Given the description of an element on the screen output the (x, y) to click on. 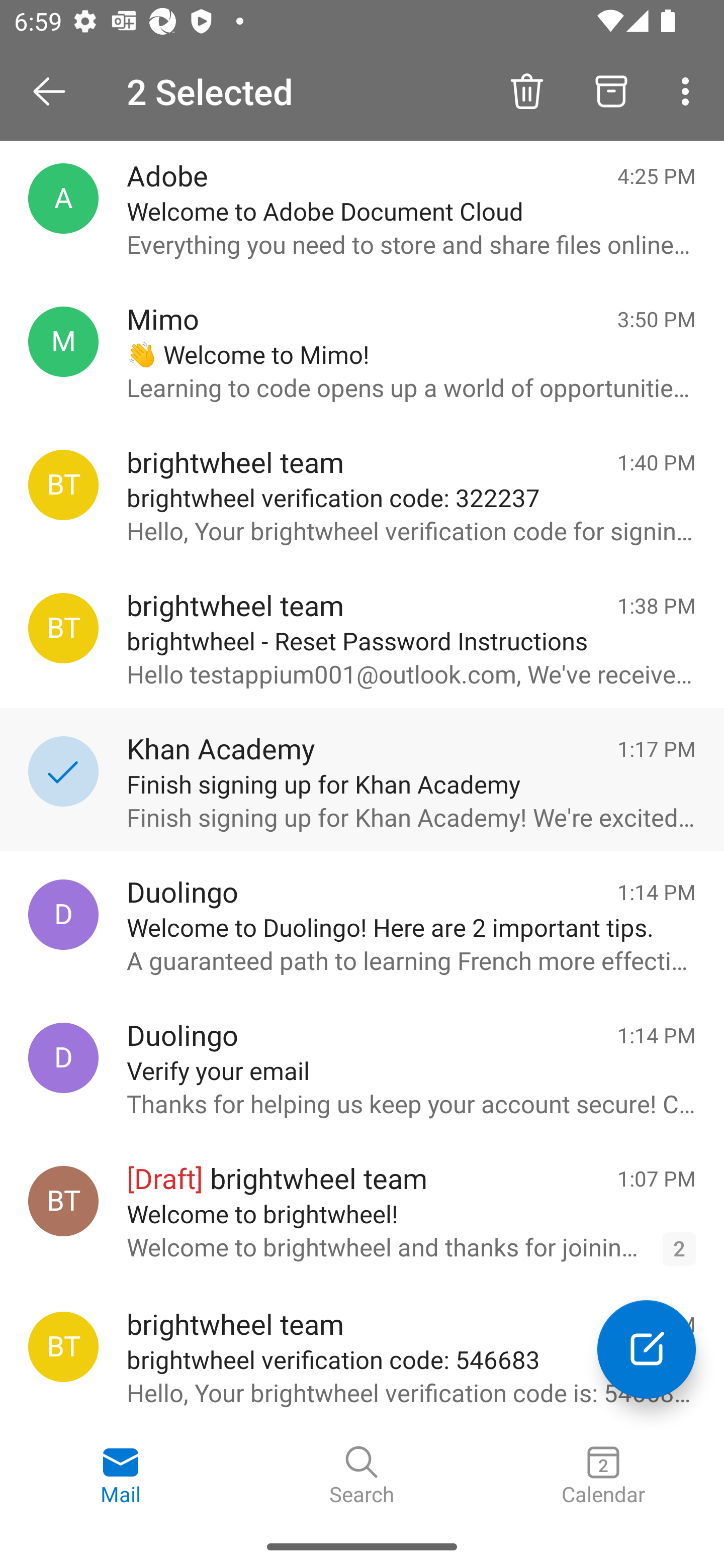
Delete (526, 90)
Archive (611, 90)
More options (688, 90)
Open Navigation Drawer (55, 91)
Adobe, message@adobe.com (63, 198)
Mimo, support@getmimo.com (63, 341)
brightwheel team, recovery@mybrightwheel.com (63, 485)
brightwheel team, recovery@mybrightwheel.com (63, 627)
Duolingo, hello@duolingo.com (63, 914)
Duolingo, hello@duolingo.com (63, 1057)
brightwheel team, welcome@mybrightwheel.com (63, 1200)
Compose (646, 1348)
brightwheel team, recovery@mybrightwheel.com (63, 1346)
Search (361, 1475)
Calendar (603, 1475)
